Given the description of an element on the screen output the (x, y) to click on. 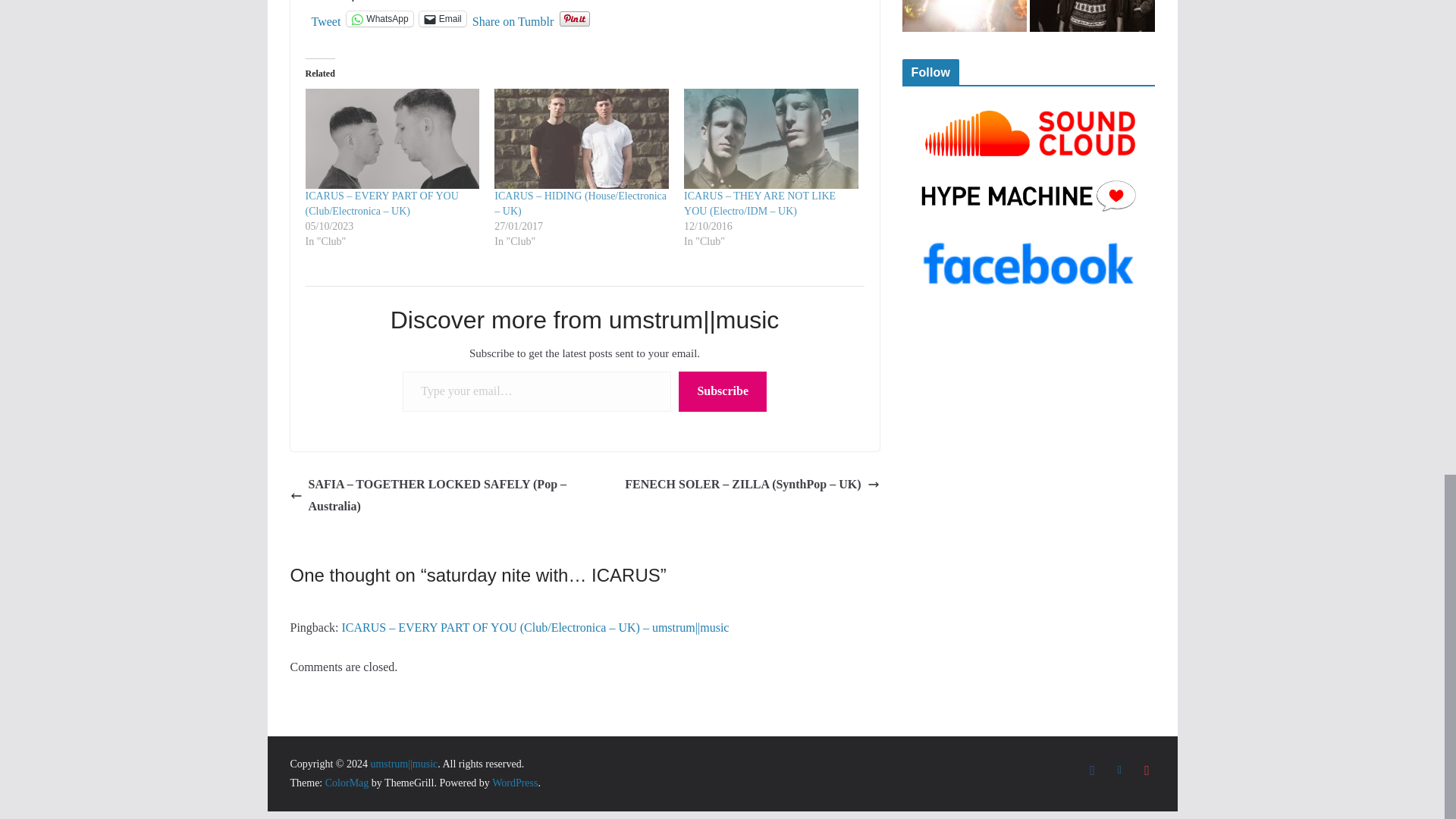
Share on Tumblr (512, 18)
Click to email a link to a friend (442, 18)
Click to share on WhatsApp (379, 18)
Share on Tumblr (512, 18)
Email (442, 18)
Tweet (325, 18)
Please fill in this field. (537, 391)
WhatsApp (379, 18)
